Given the description of an element on the screen output the (x, y) to click on. 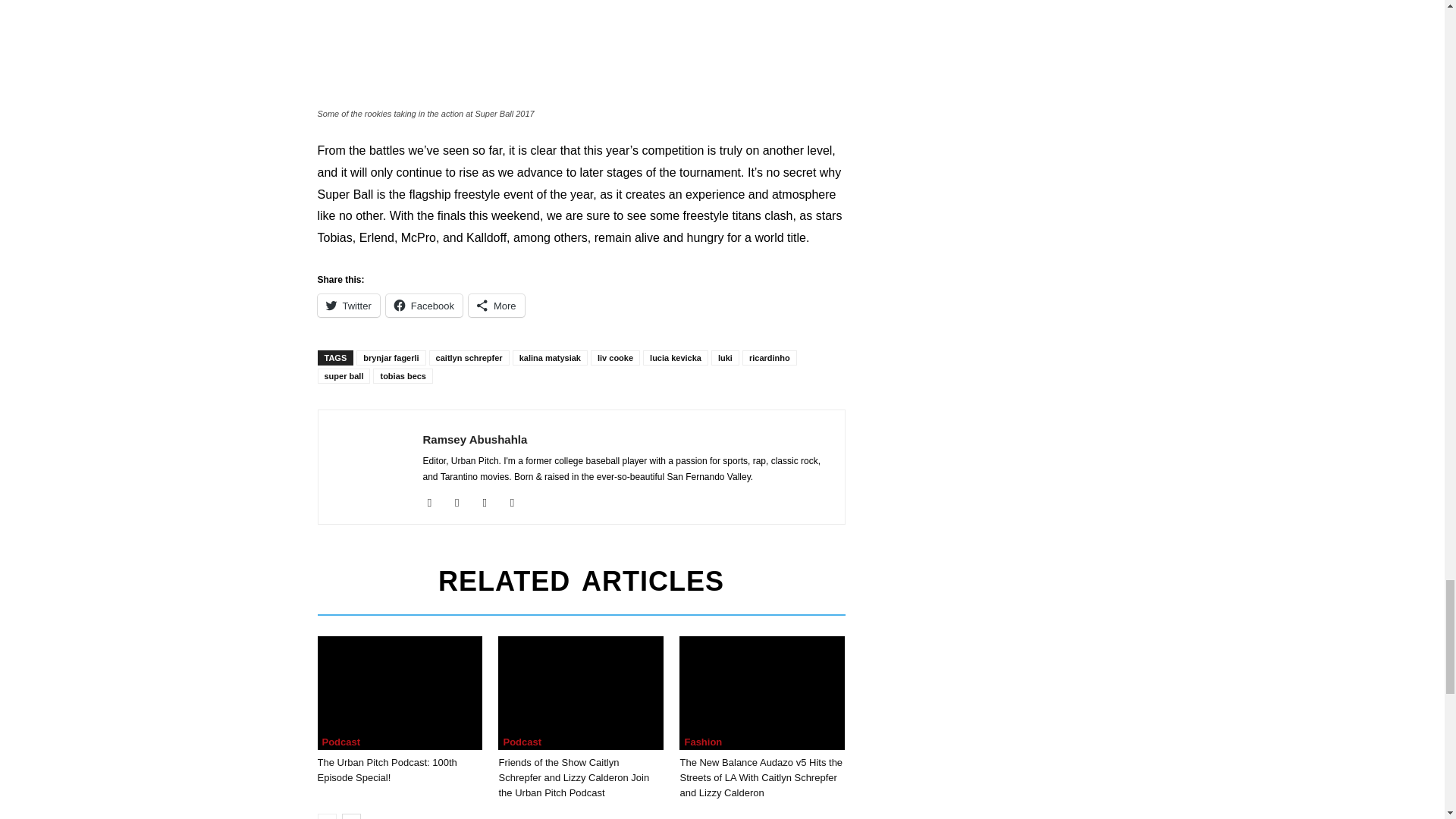
Instagram (462, 502)
Facebook (435, 502)
Twitter (518, 502)
Click to share on Facebook (424, 305)
The Urban Pitch Podcast: 100th Episode Special! (399, 693)
Click to share on Twitter (347, 305)
Linkedin (489, 502)
